Given the description of an element on the screen output the (x, y) to click on. 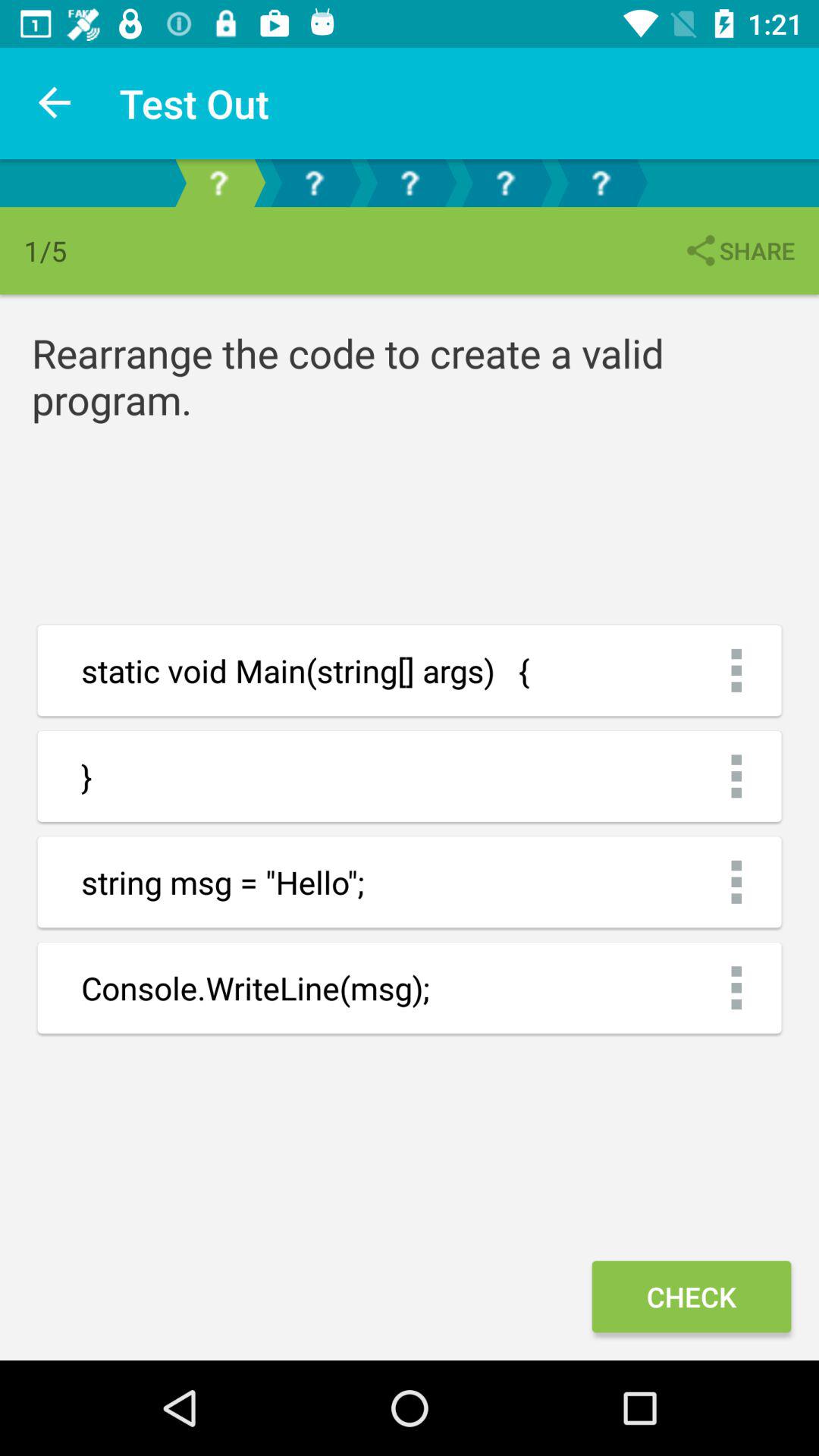
choose the icon next to test out icon (55, 103)
